Given the description of an element on the screen output the (x, y) to click on. 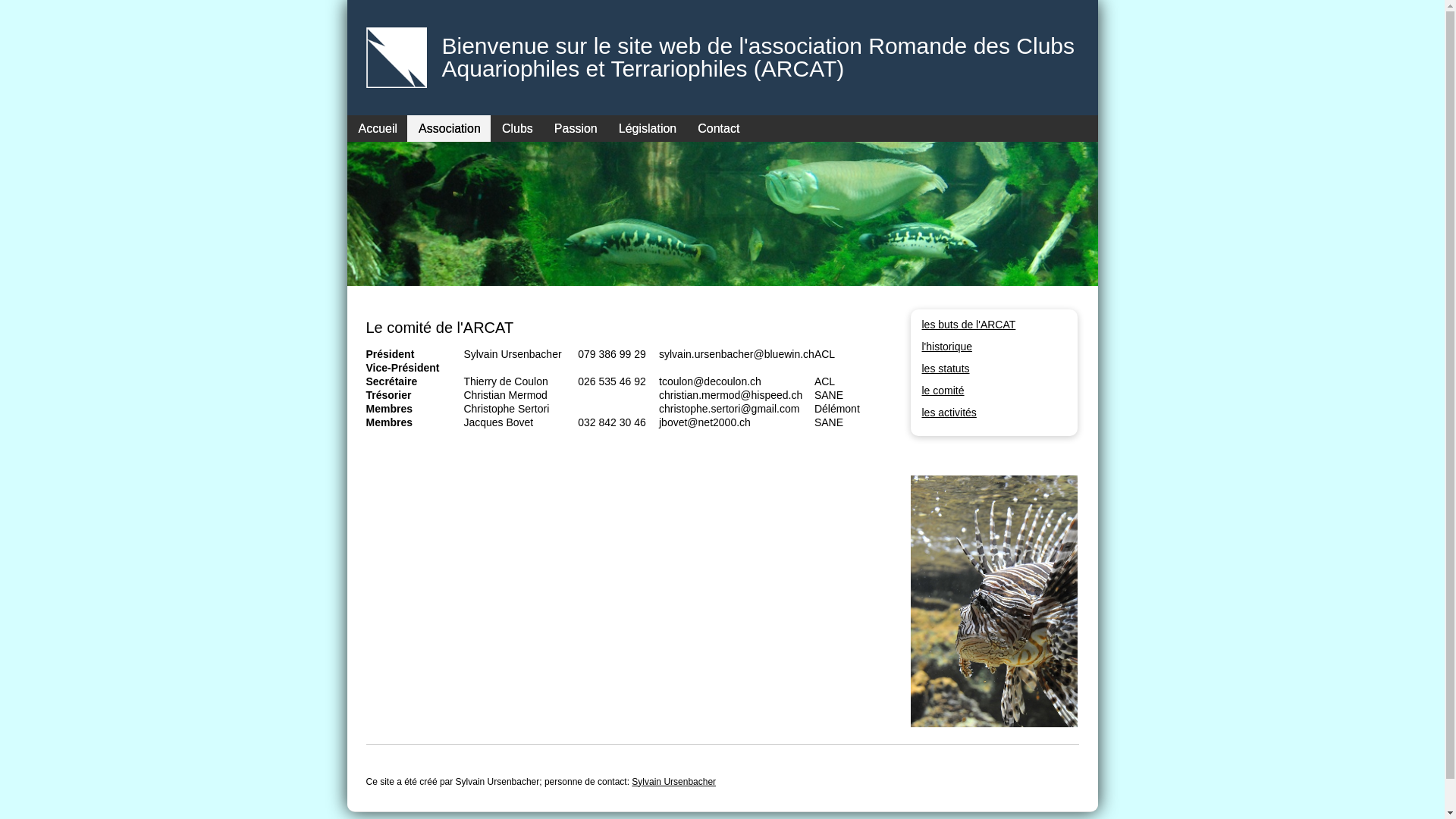
l'historique Element type: text (947, 346)
les statuts Element type: text (945, 368)
les buts de l'ARCAT Element type: text (969, 324)
Passion Element type: text (574, 128)
Accueil Element type: text (377, 128)
Sylvain Ursenbacher Element type: text (673, 781)
Association Element type: text (448, 128)
Clubs Element type: text (516, 128)
Contact Element type: text (714, 128)
